Given the description of an element on the screen output the (x, y) to click on. 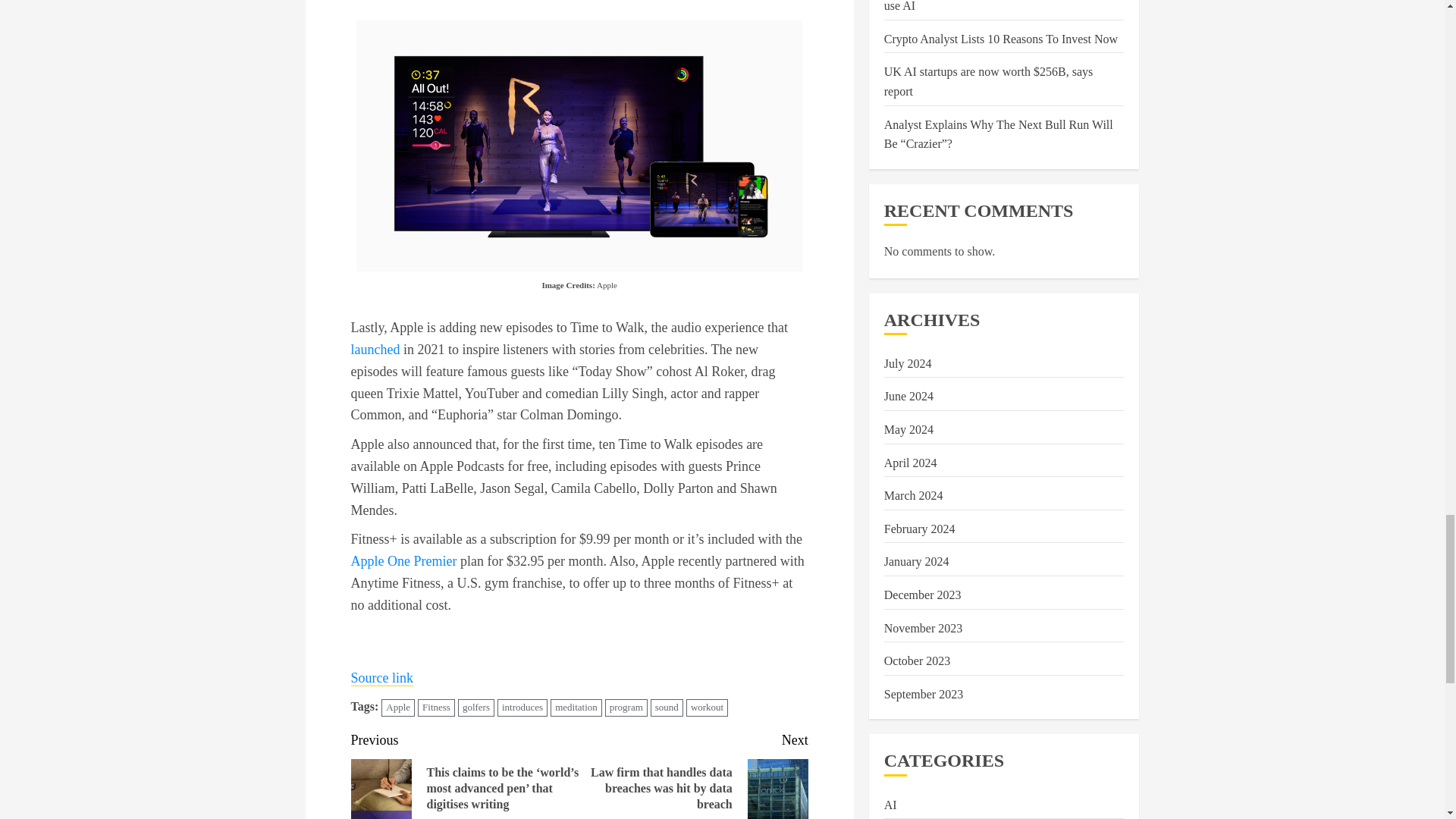
golfers (476, 707)
Source link (381, 678)
Apple One Premier (403, 560)
introduces (522, 707)
meditation (576, 707)
workout (706, 707)
Apple (397, 707)
sound (666, 707)
Fitness (435, 707)
program (626, 707)
launched (374, 349)
